Given the description of an element on the screen output the (x, y) to click on. 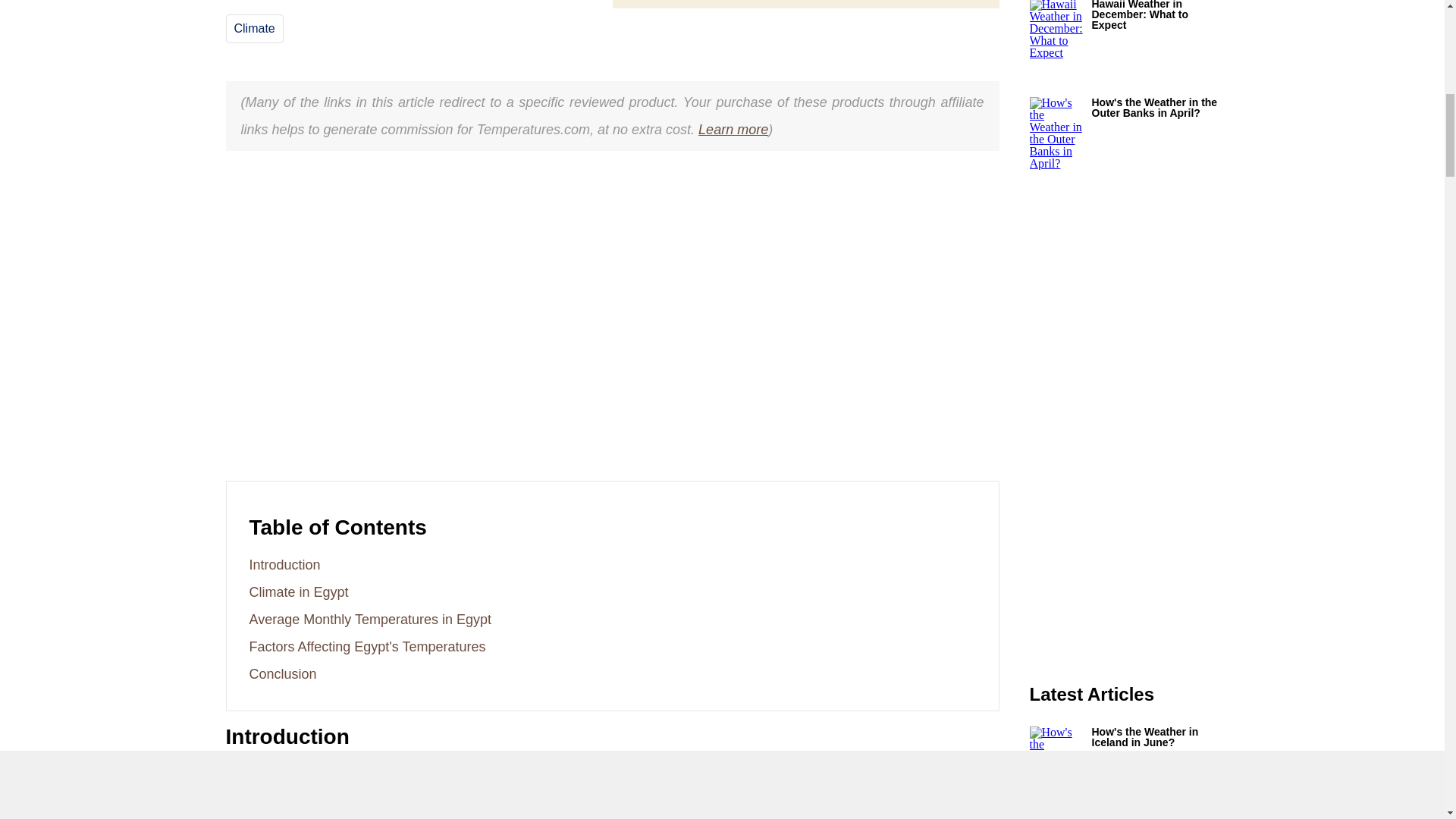
Climate in Egypt (297, 591)
Average Monthly Temperatures in Egypt (370, 619)
Learn more (733, 129)
Introduction (284, 564)
Climate (253, 28)
Factors Affecting Egypt's Temperatures (366, 646)
